Given the description of an element on the screen output the (x, y) to click on. 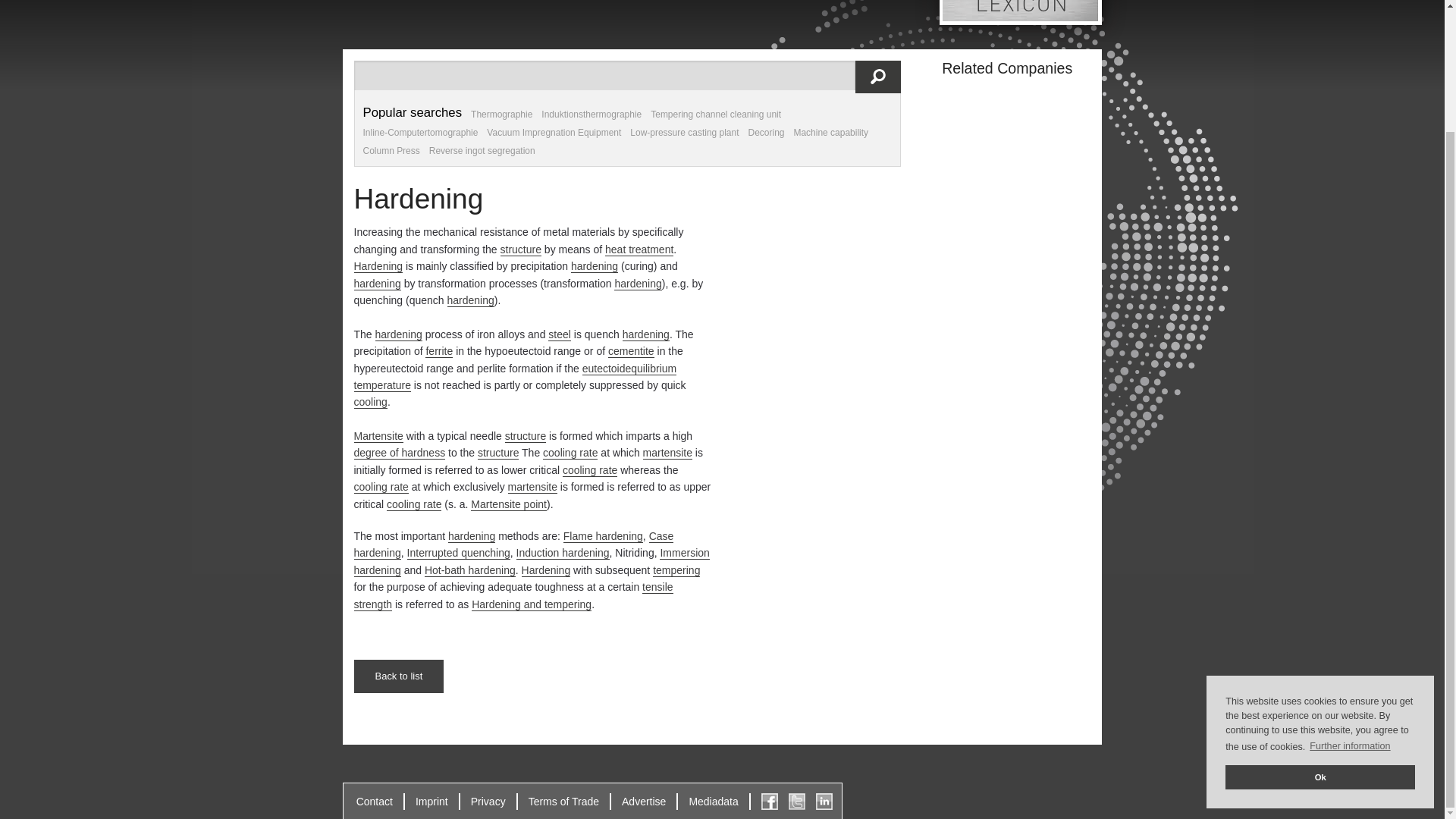
ROBAMAT (777, 106)
Search (878, 76)
Further information (1349, 600)
LEXICON (464, 1)
Decoring (766, 132)
Ok (1320, 630)
Inline-Computertomographie (420, 132)
ADD NEW TERM (464, 17)
structure (520, 249)
Vacuum Impregnation Equipment (553, 132)
